Given the description of an element on the screen output the (x, y) to click on. 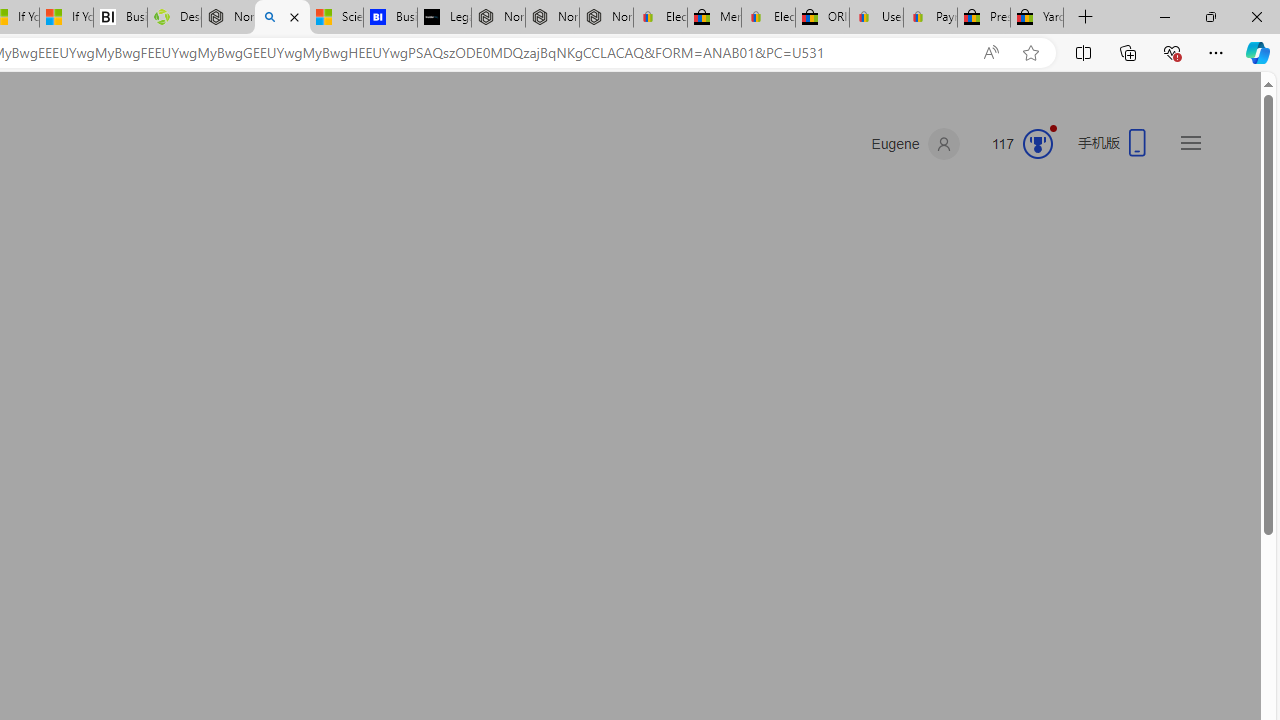
Press Room - eBay Inc. (983, 17)
Descarga Driver Updater (174, 17)
Yard, Garden & Outdoor Living (1037, 17)
